Given the description of an element on the screen output the (x, y) to click on. 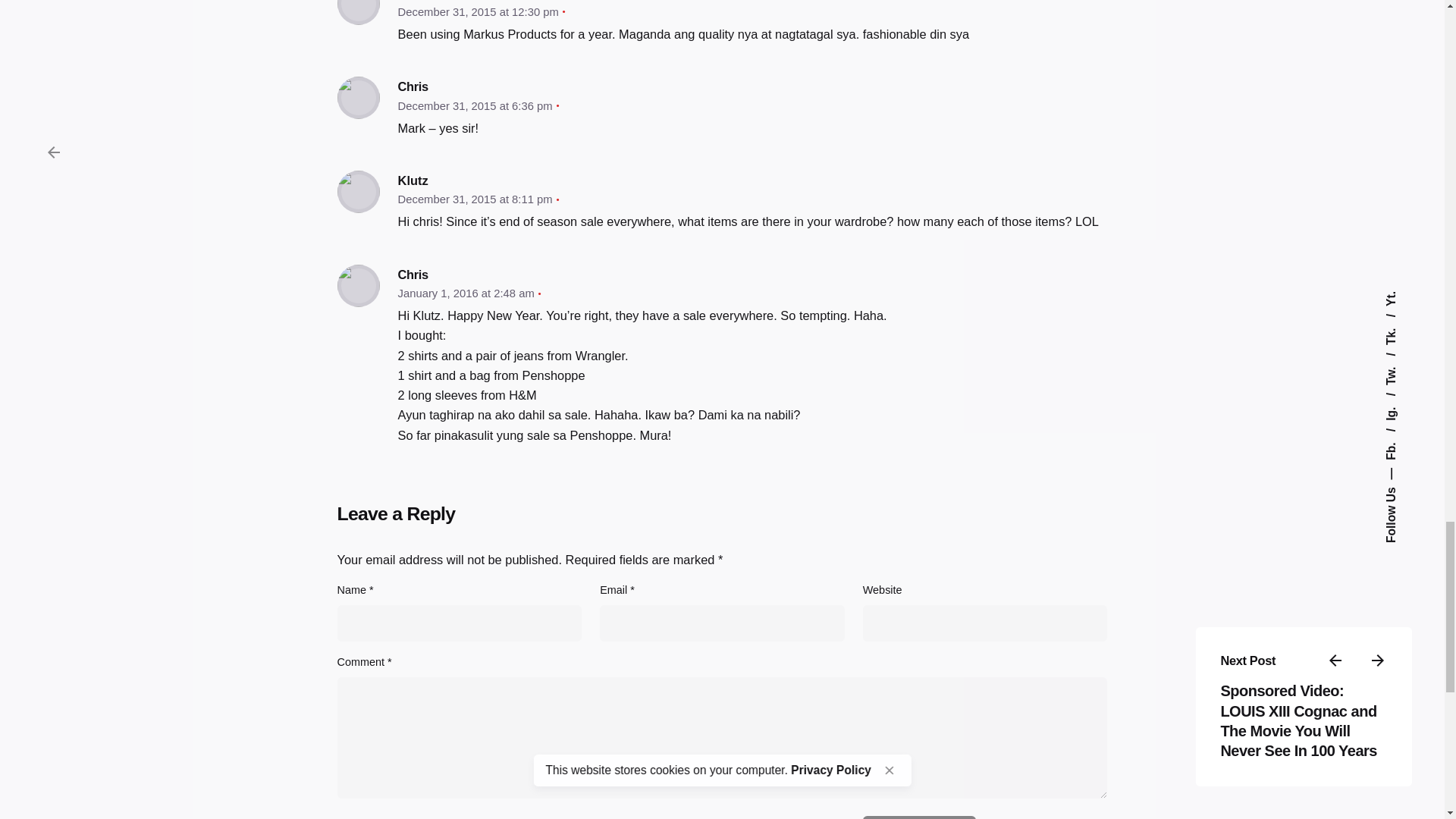
Post Comment (919, 817)
